Given the description of an element on the screen output the (x, y) to click on. 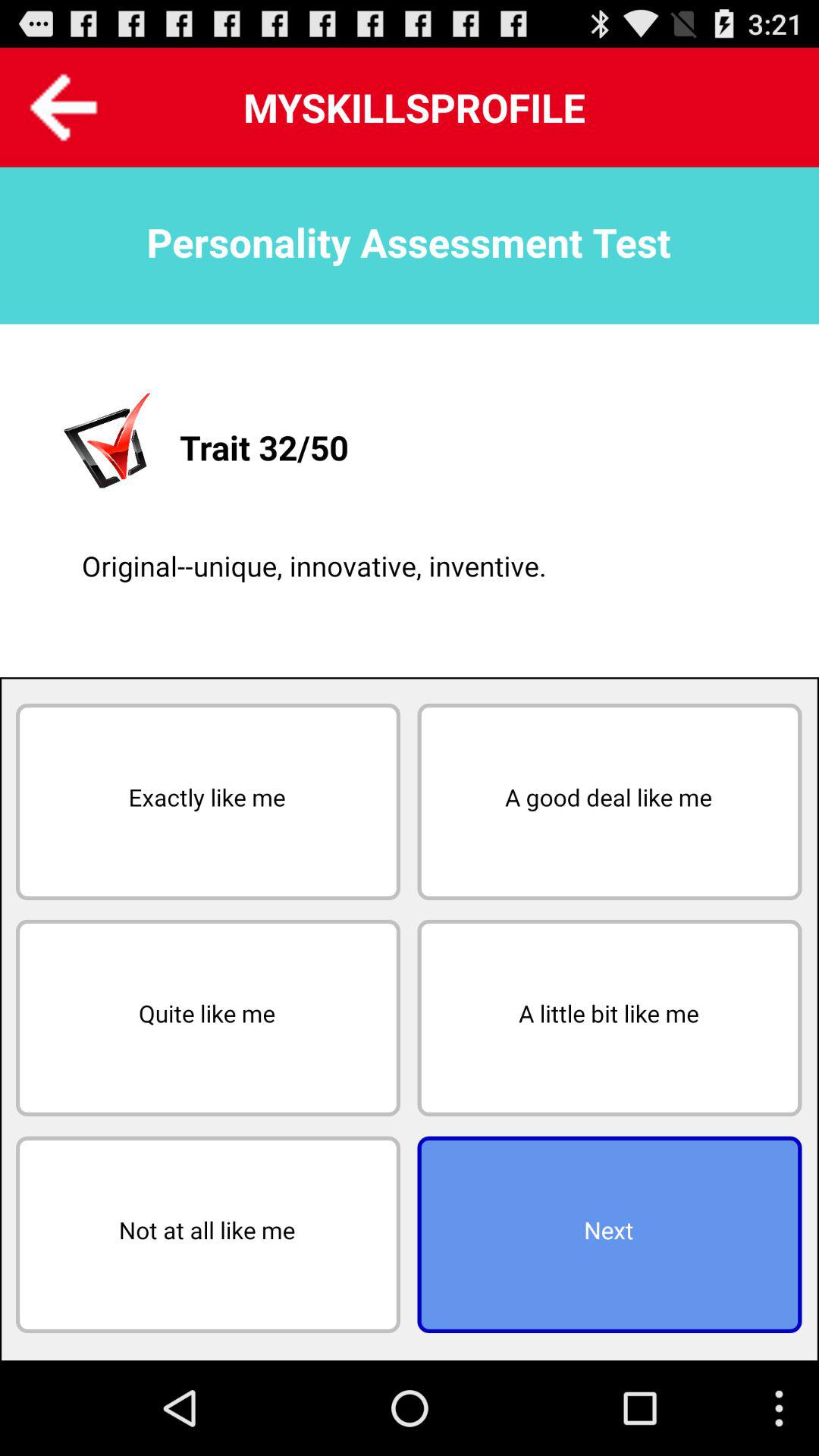
turn on button next to exactly like me (609, 801)
